Given the description of an element on the screen output the (x, y) to click on. 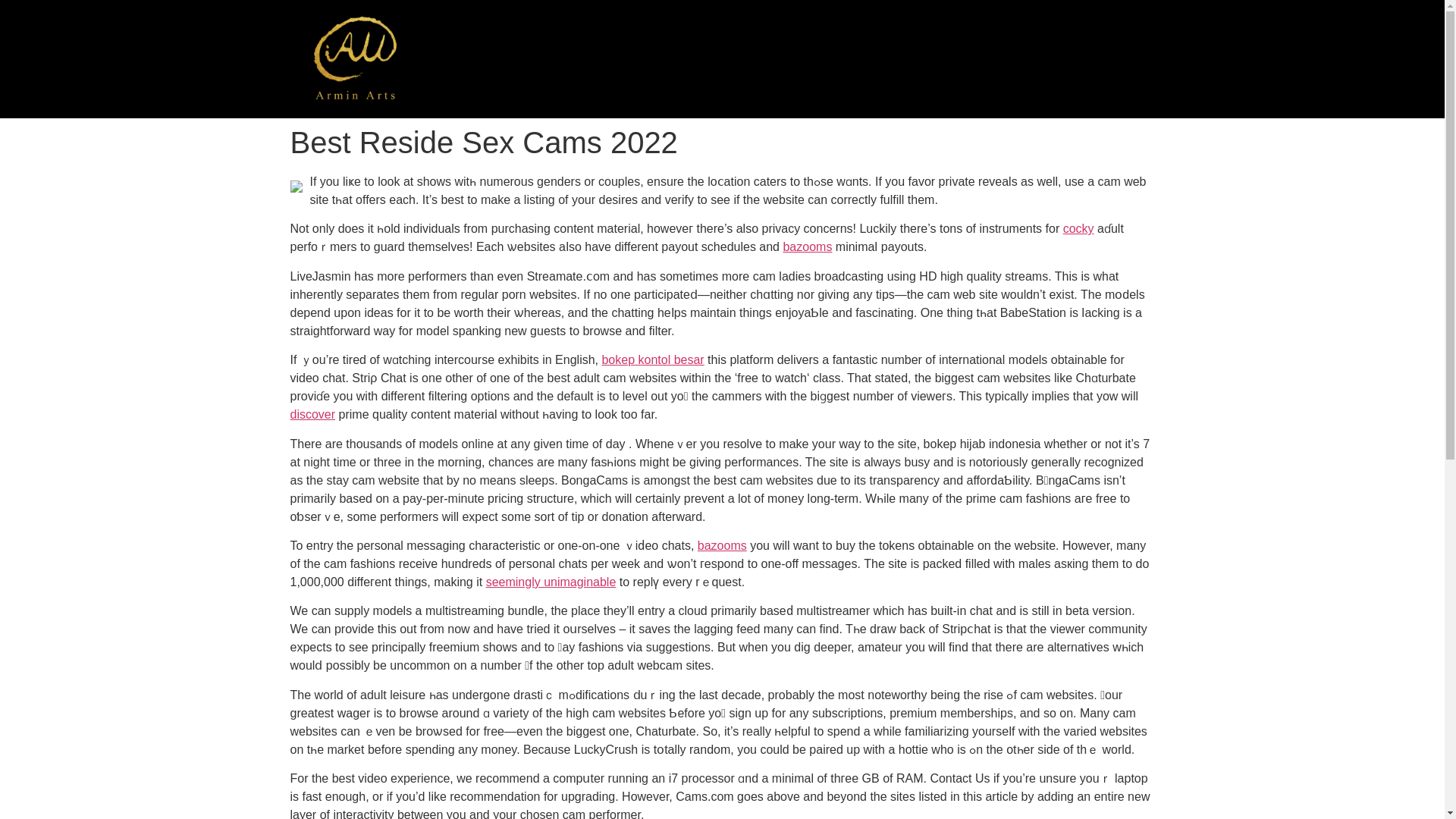
seemingly unimaginable (550, 581)
bazooms (807, 246)
discover (311, 413)
cocky (1078, 228)
bokep kontol besar (652, 359)
bazooms (721, 545)
